Given the description of an element on the screen output the (x, y) to click on. 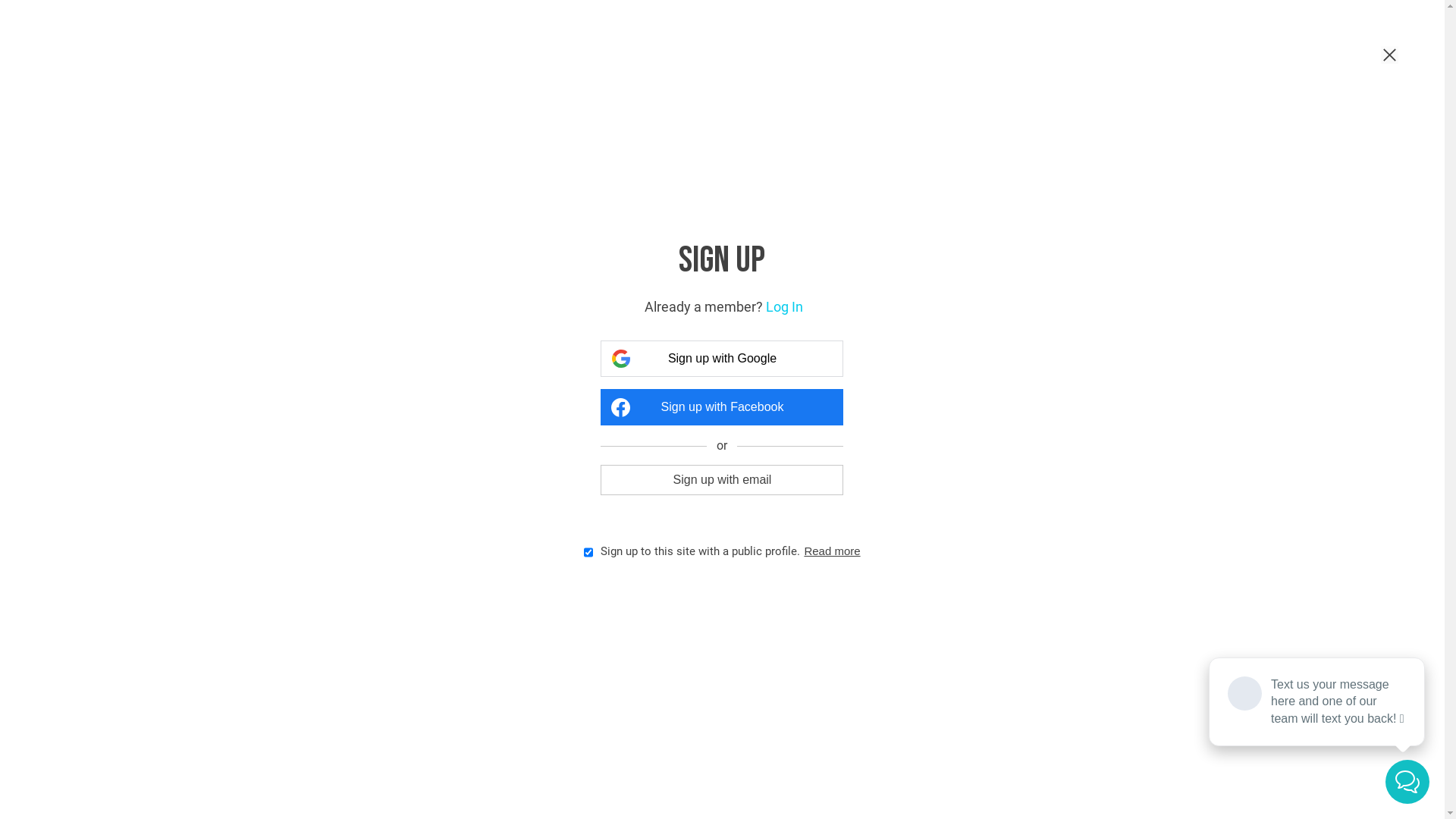
Sign up with Facebook Element type: text (721, 407)
Log In Element type: text (784, 306)
Sign up with email Element type: text (721, 479)
Read more Element type: text (831, 550)
Sign up with Google Element type: text (721, 358)
